Given the description of an element on the screen output the (x, y) to click on. 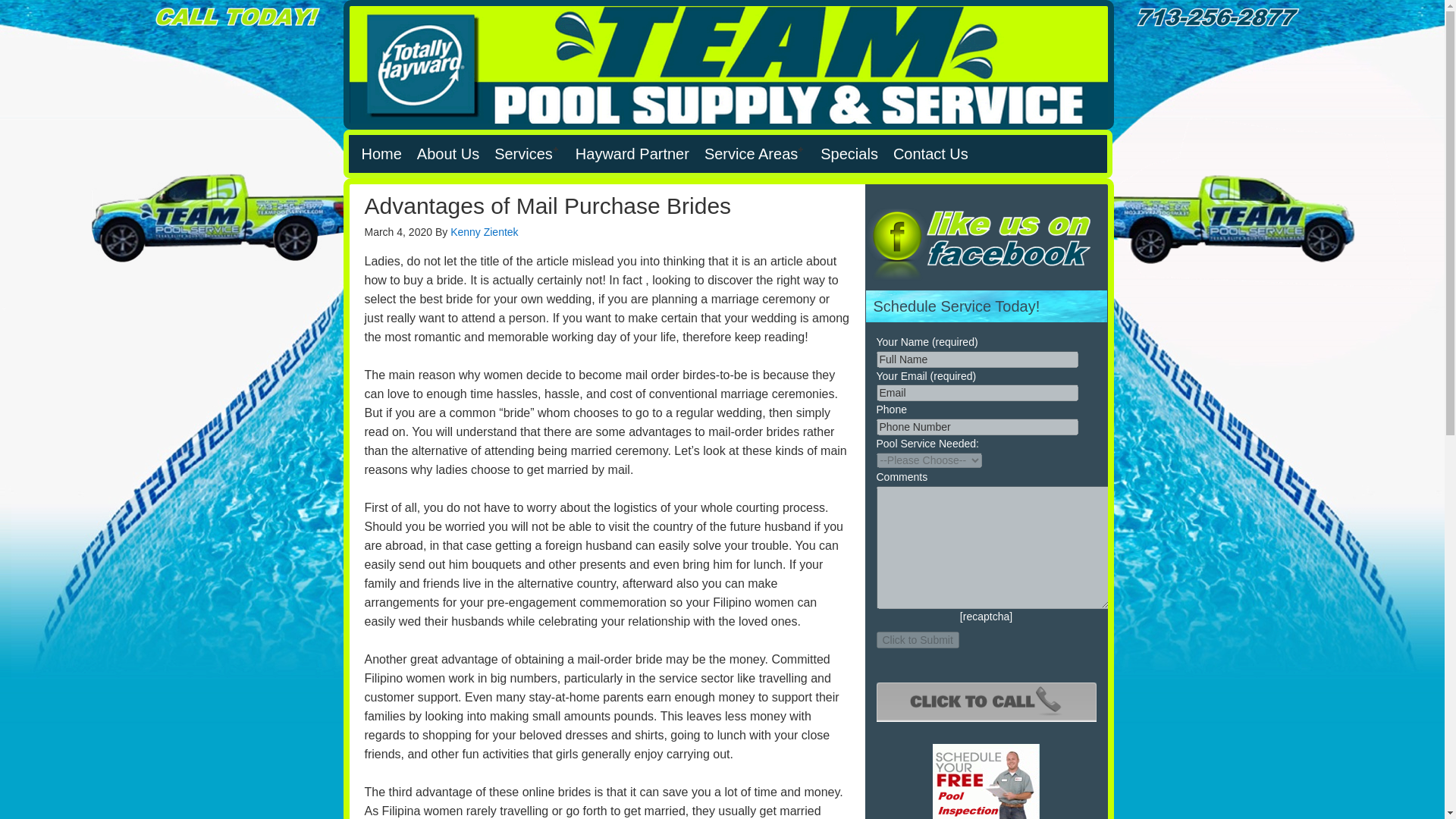
Specials (848, 153)
About Us (447, 153)
Hayward Partner (632, 153)
Contact Us (930, 153)
Services (526, 153)
Kenny Zientek (483, 232)
Click to Submit (917, 638)
Home (381, 153)
Service Areas (754, 153)
Click to Submit (917, 638)
